Given the description of an element on the screen output the (x, y) to click on. 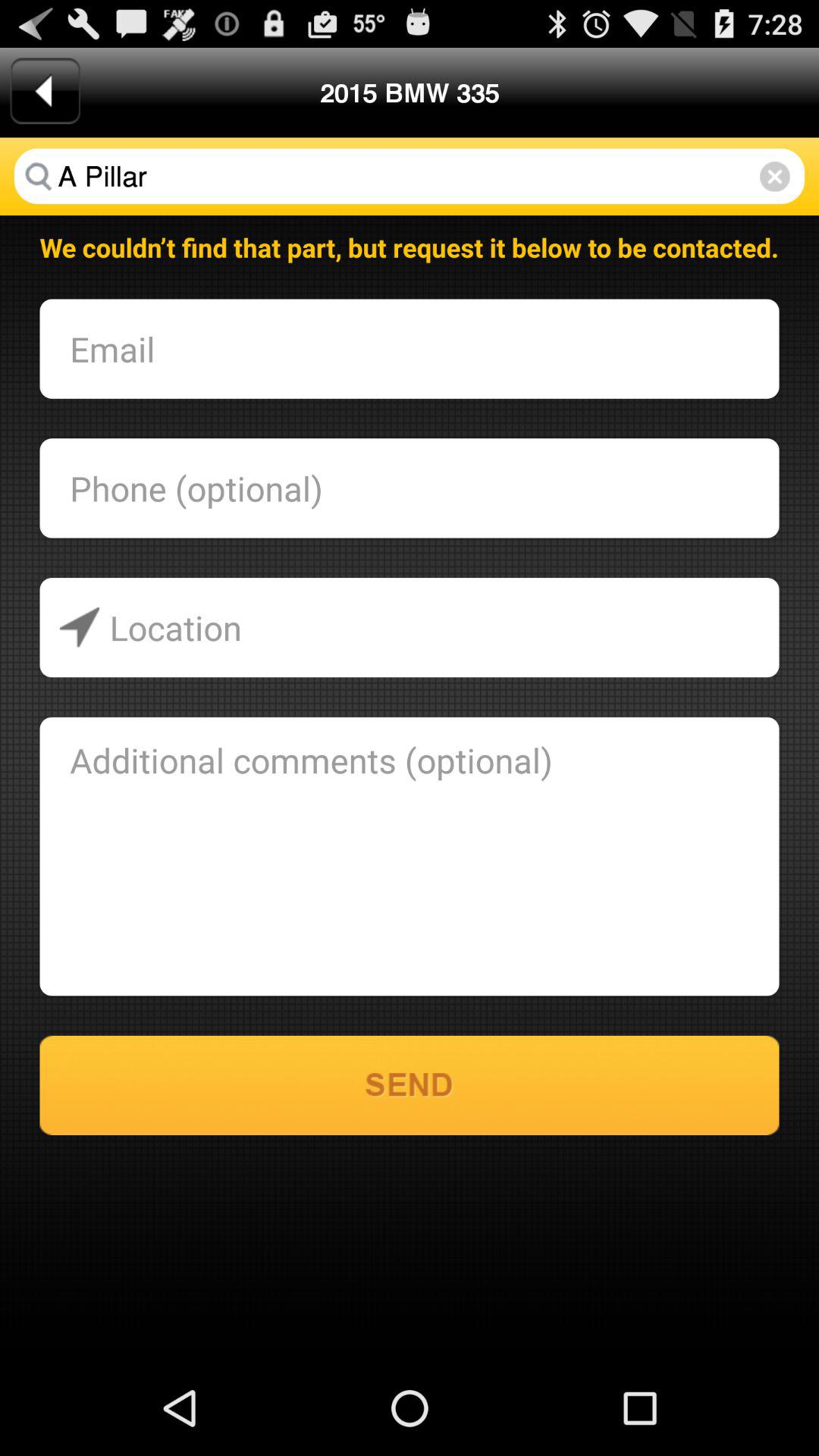
select icon to the right of 2015 bmw 335 icon (774, 176)
